Given the description of an element on the screen output the (x, y) to click on. 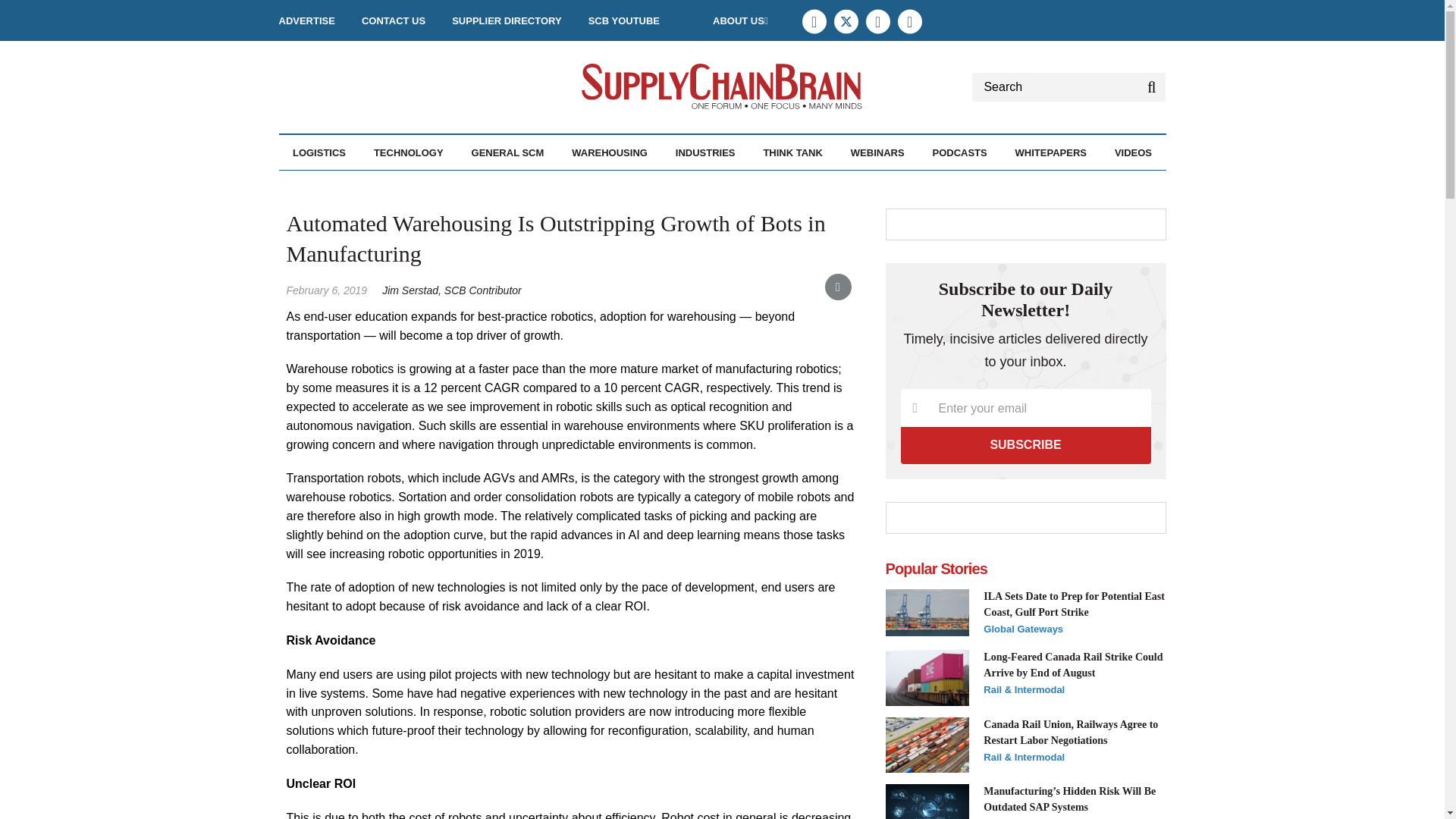
ABOUT US (740, 20)
All Logistics (375, 184)
Reverse Logistics (411, 184)
TECHNOLOGY (409, 152)
SUPPLIER DIRECTORY (505, 20)
ADVERTISE (306, 20)
canada-rail-freight-iStock-115879251.jpg (927, 745)
All Technology (449, 184)
Global Logistics (398, 184)
canada-rail-freight-iStock-2148148226.jpg (927, 677)
